Given the description of an element on the screen output the (x, y) to click on. 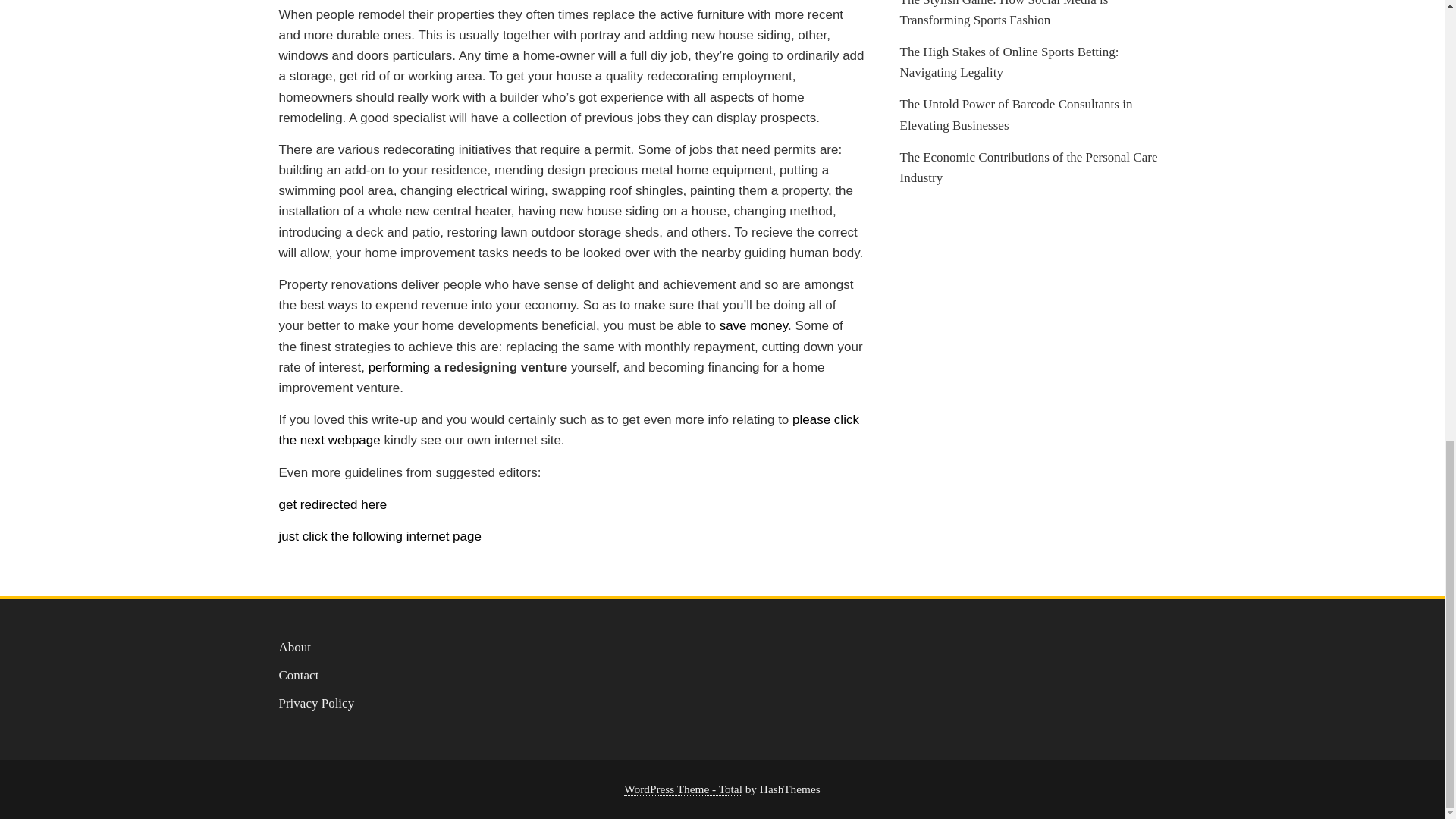
just click the following internet page (380, 536)
About (295, 646)
Privacy Policy (317, 703)
Contact (298, 675)
get redirected here (333, 504)
WordPress Theme - Total (683, 789)
The Economic Contributions of the Personal Care Industry (1028, 167)
please click the next webpage (569, 429)
